Given the description of an element on the screen output the (x, y) to click on. 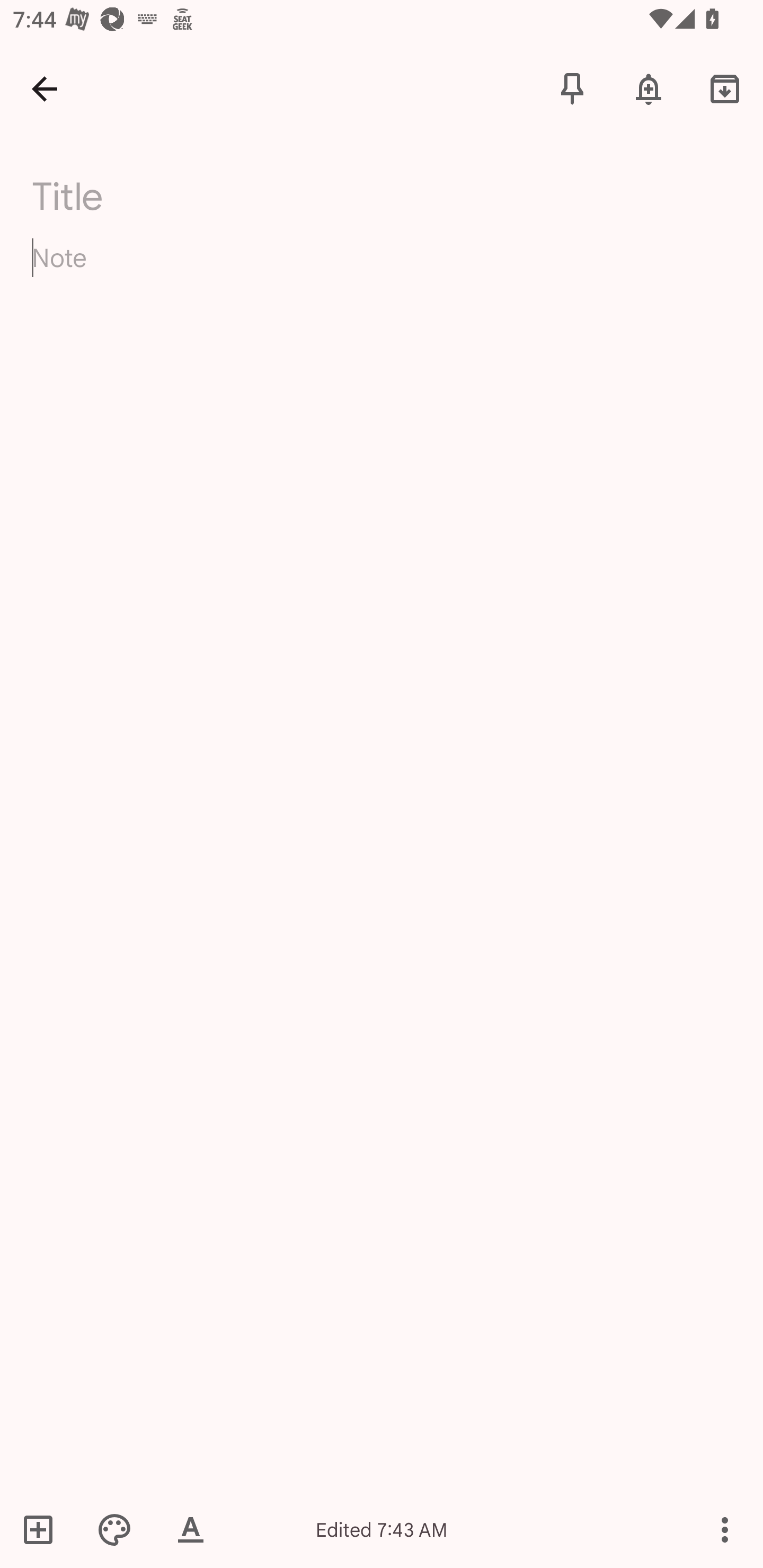
Navigate up (44, 88)
Pin (572, 88)
Reminder (648, 88)
Archive (724, 88)
Title (392, 196)
Note (381, 273)
New list (44, 1529)
Theme (114, 1529)
Show formatting controls (190, 1529)
Action (724, 1529)
